Given the description of an element on the screen output the (x, y) to click on. 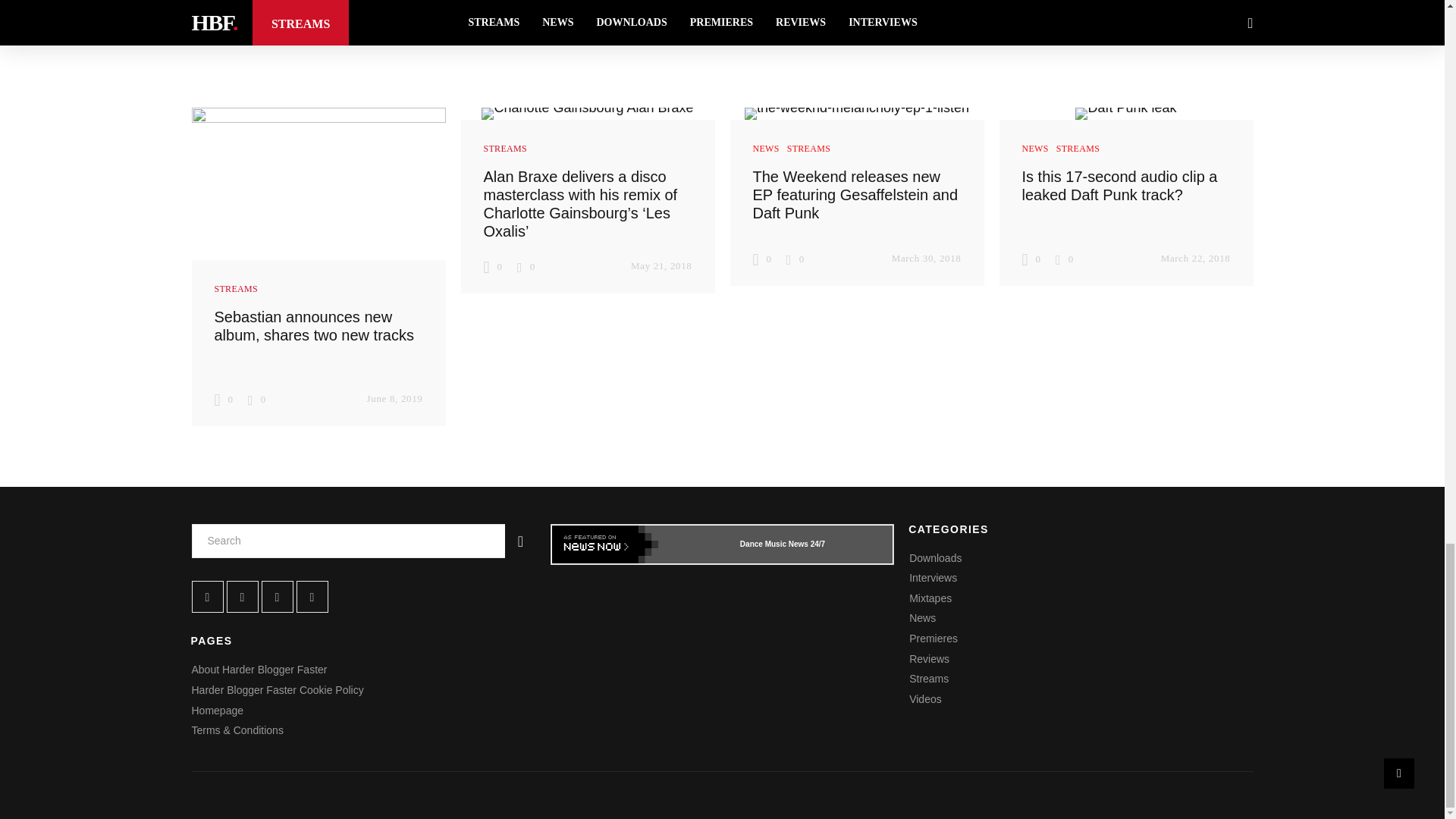
No Comment (525, 266)
View all posts in  (504, 148)
View all posts in  (236, 288)
STREAMS (236, 288)
Sebastian announces new album, shares two new tracks (313, 325)
No Comment (255, 398)
